Given the description of an element on the screen output the (x, y) to click on. 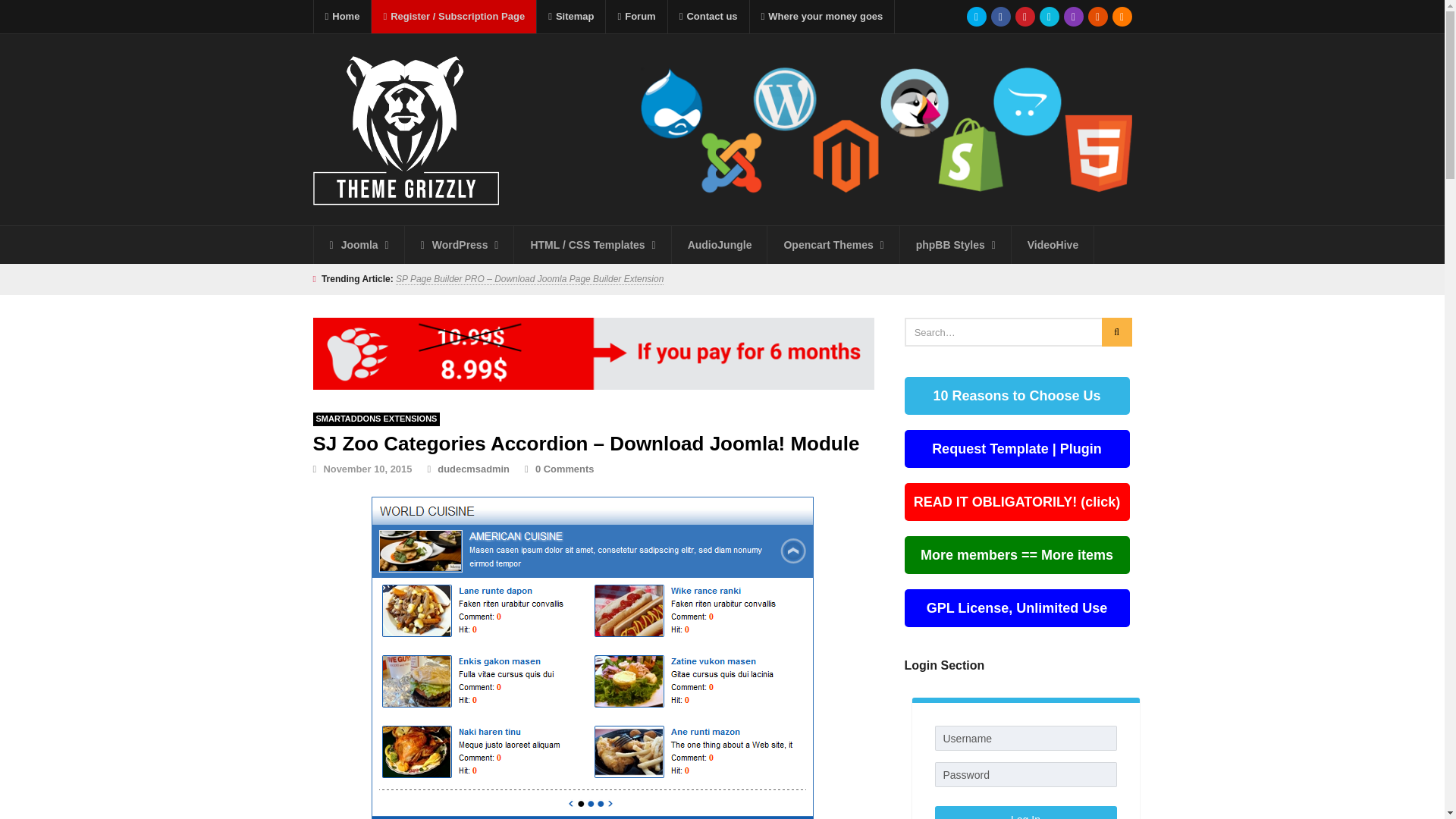
Facebook (1000, 16)
Vk (1048, 16)
Log In (1025, 812)
Email (1096, 16)
Where your money goes (822, 16)
ThemeGrizzly.com (885, 162)
Twitter (975, 16)
Home (343, 16)
SmartAddons Extensions (376, 418)
Instagram (1072, 16)
Joomla (359, 244)
Pinterest (1023, 16)
RSS (1121, 16)
ThemeGrizzly.com (885, 97)
Forum (635, 16)
